Given the description of an element on the screen output the (x, y) to click on. 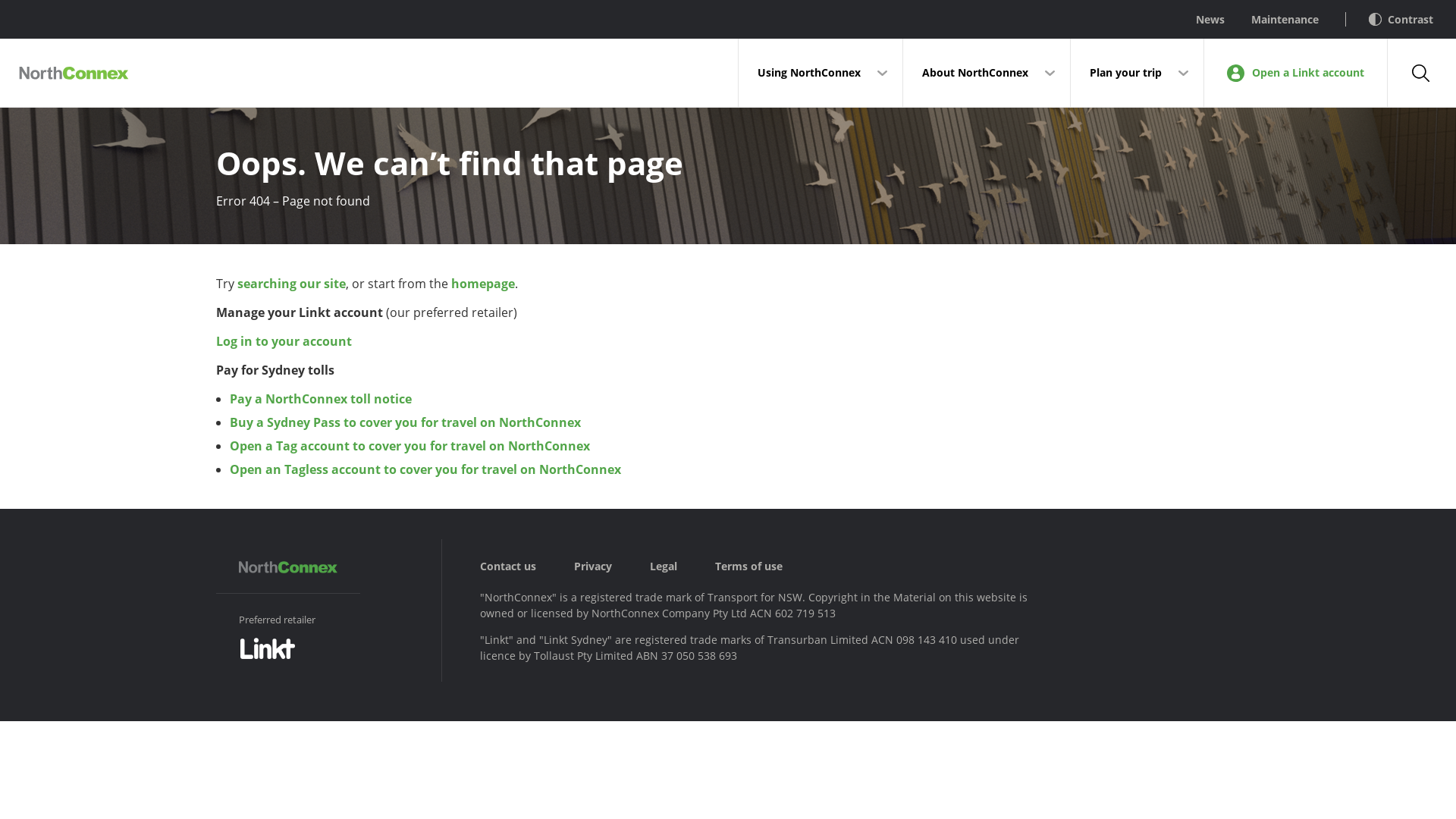
About NorthConnex Element type: text (986, 72)
Using NorthConnex Element type: text (820, 72)
searching our site Element type: text (291, 283)
Log in to your account Element type: text (283, 340)
Legal Element type: text (682, 565)
Contact us Element type: text (527, 565)
Privacy Element type: text (611, 565)
Plan your trip Element type: text (1136, 72)
Terms of use Element type: text (767, 565)
Open a Linkt account Element type: text (1295, 72)
Buy a Sydney Pass to cover you for travel on NorthConnex Element type: text (404, 422)
Pay a NorthConnex toll notice Element type: text (320, 398)
Maintenance Element type: text (1271, 19)
homepage Element type: text (482, 283)
Contrast Element type: text (1389, 19)
Open a Tag account to cover you for travel on NorthConnex Element type: text (409, 445)
News Element type: text (1196, 19)
